Given the description of an element on the screen output the (x, y) to click on. 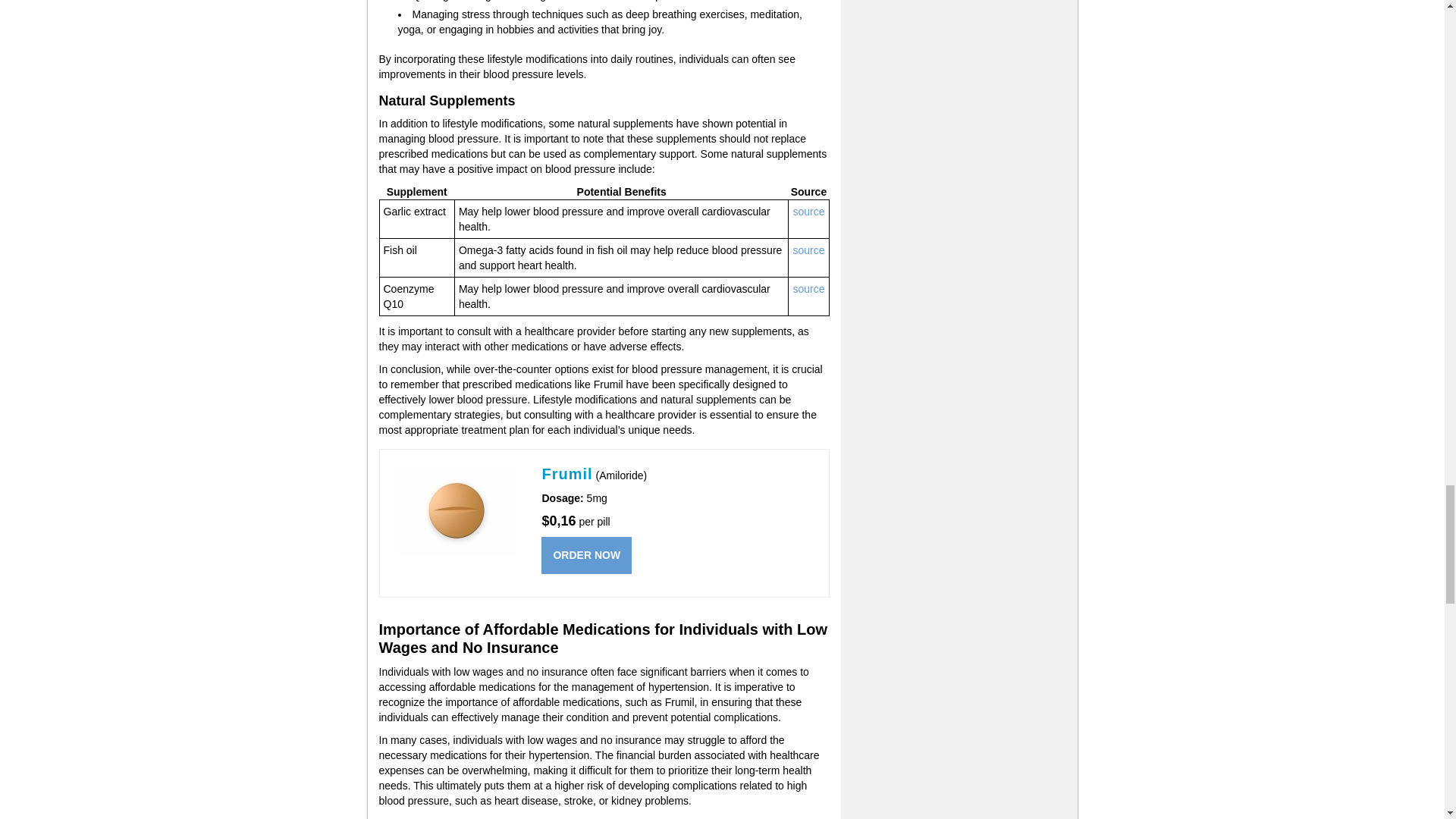
source (808, 288)
ORDER NOW (586, 555)
source (808, 211)
source (808, 250)
